Given the description of an element on the screen output the (x, y) to click on. 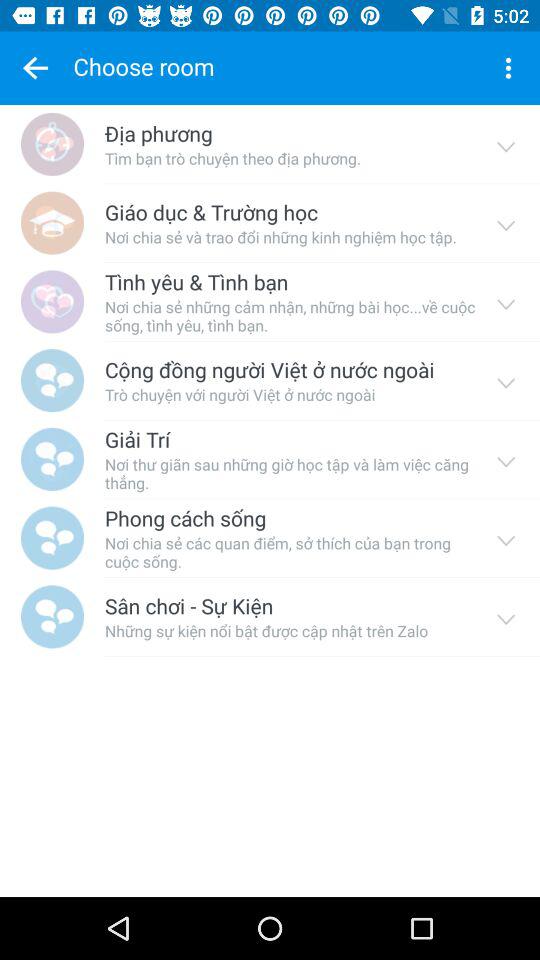
select the right side icon which is sixth from the top (505, 538)
select the menu symbol which is on the top right corner of the page (508, 67)
